Given the description of an element on the screen output the (x, y) to click on. 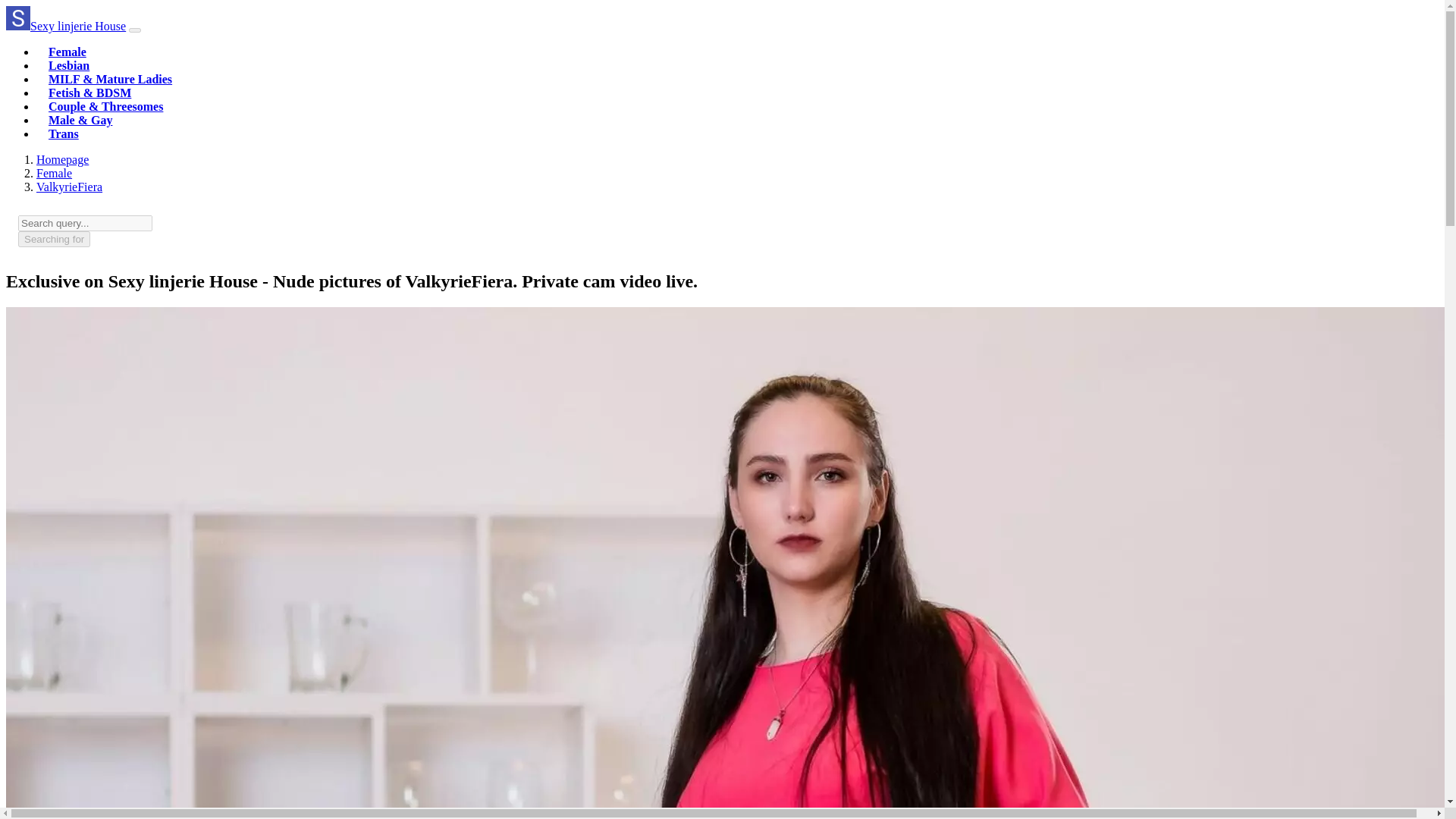
Trans (63, 133)
Female (53, 173)
Searching for (53, 238)
Female (53, 173)
Sexy linjerie House (65, 25)
Trans (63, 133)
Sexy linjerie House (62, 159)
Sexy linjerie House (65, 25)
Female (66, 51)
Female (66, 51)
Lesbian (68, 65)
ValkyrieFiera (68, 186)
Lesbian (68, 65)
Homepage (62, 159)
